Given the description of an element on the screen output the (x, y) to click on. 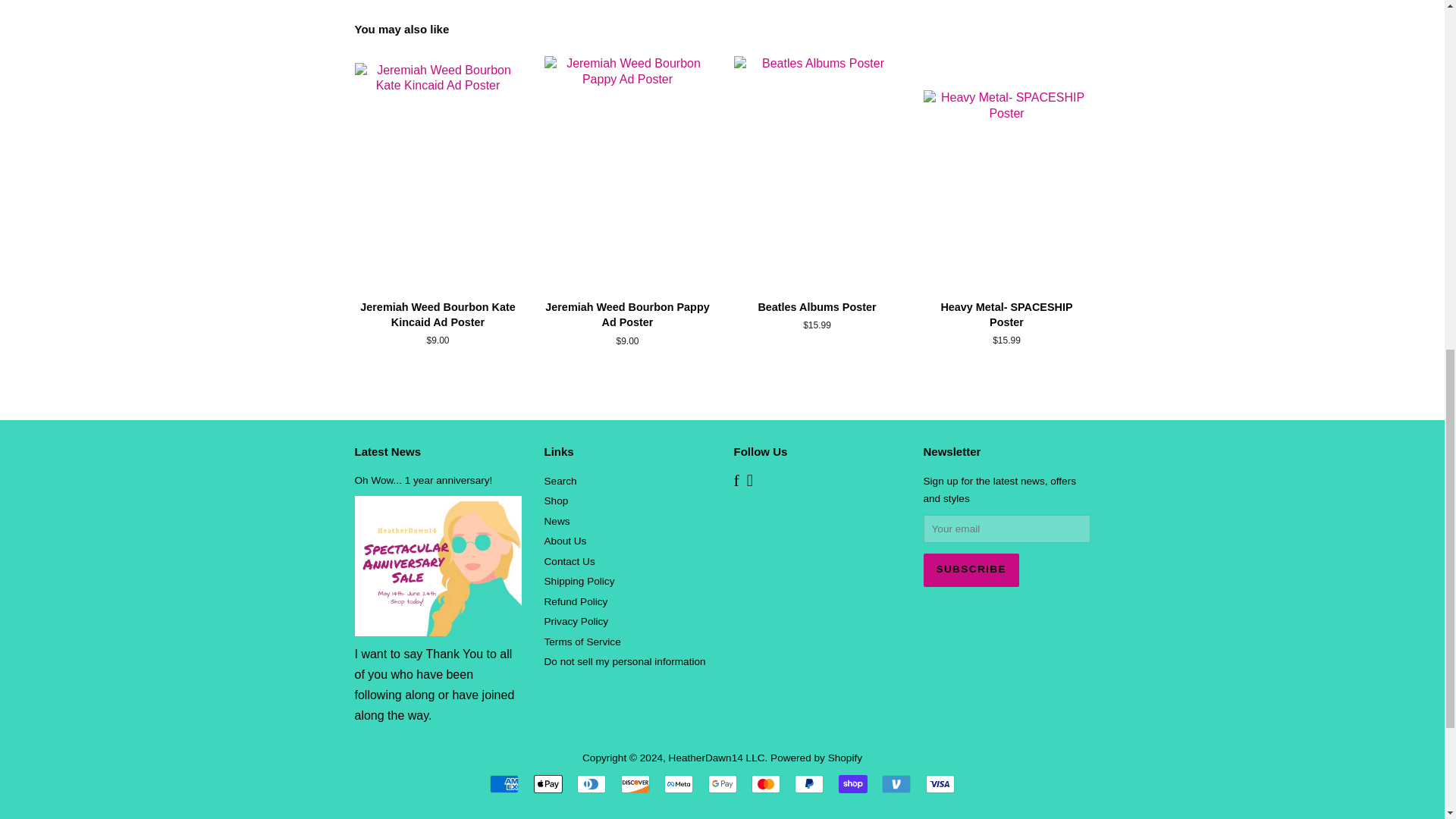
Meta Pay (678, 783)
Shop Pay (852, 783)
Discover (635, 783)
Venmo (896, 783)
Apple Pay (548, 783)
PayPal (809, 783)
Subscribe (971, 570)
Visa (940, 783)
Mastercard (765, 783)
Diners Club (590, 783)
Google Pay (721, 783)
American Express (503, 783)
